Given the description of an element on the screen output the (x, y) to click on. 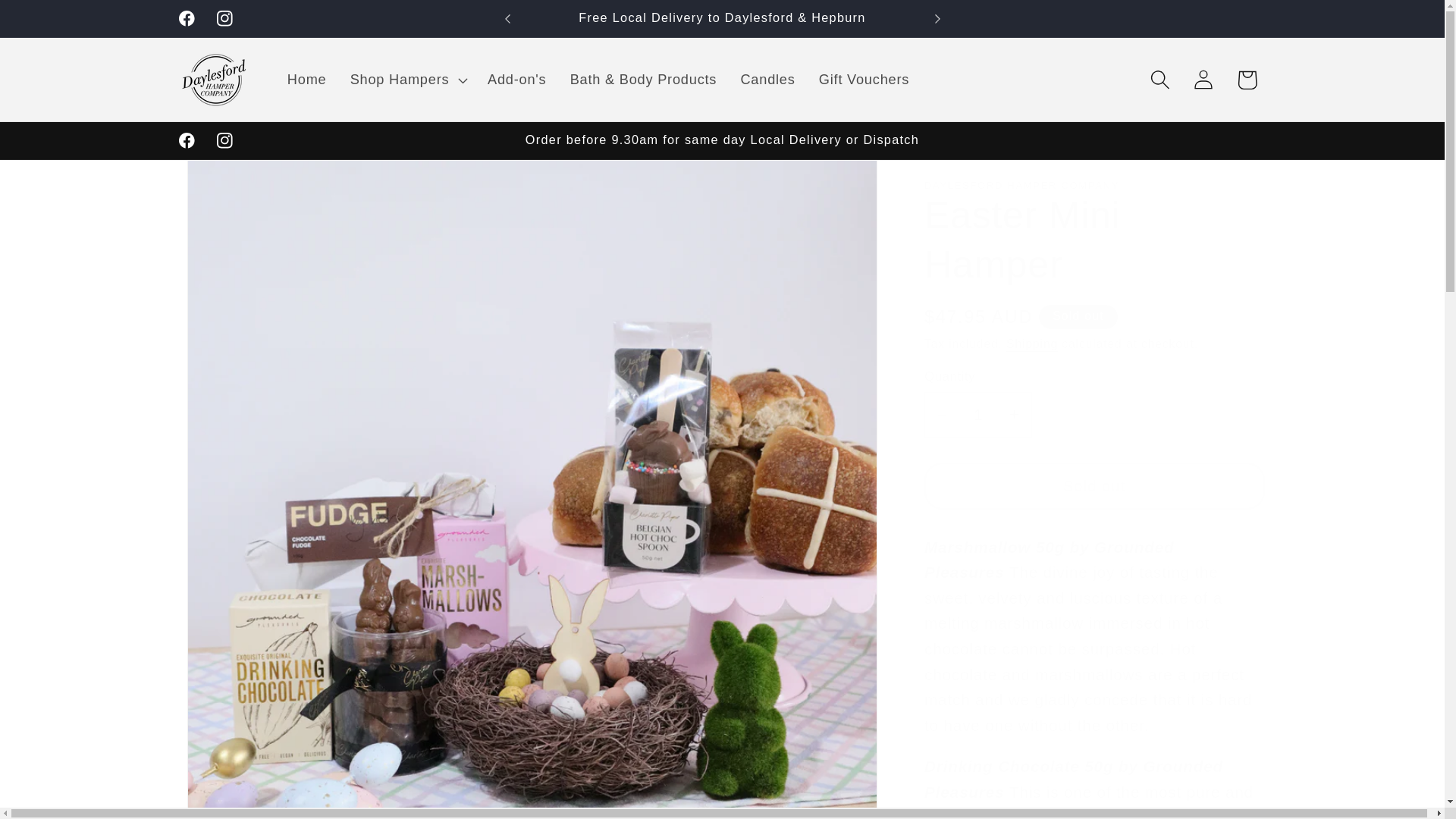
Add-on's (516, 78)
Candles (767, 78)
Instagram (224, 18)
Gift Vouchers (863, 78)
Home (306, 78)
Skip to content (60, 23)
Facebook (186, 18)
